Given the description of an element on the screen output the (x, y) to click on. 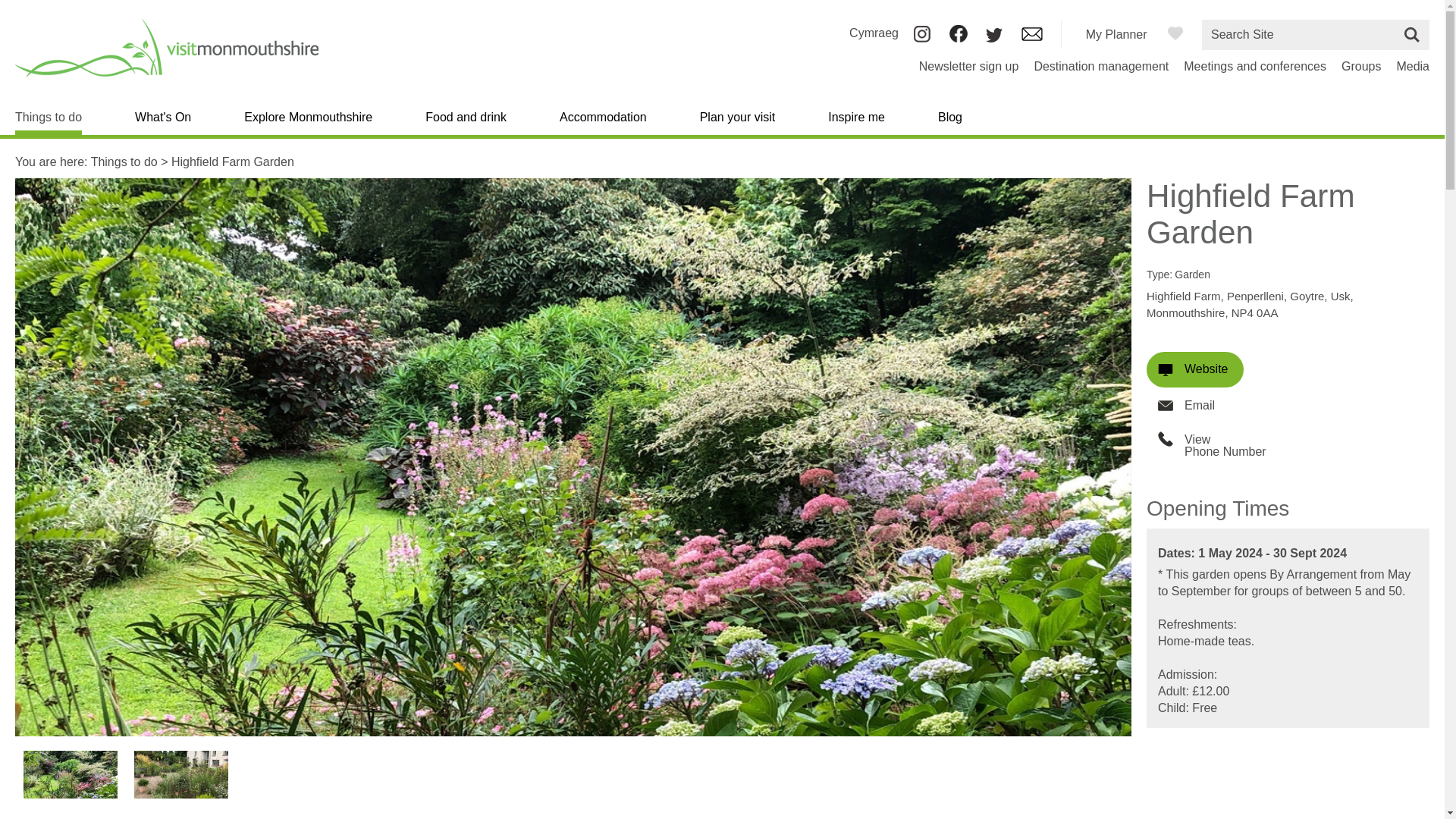
Website Facebook (958, 38)
Meetings and conferences (1254, 65)
Newsletter sign up (968, 65)
Website Instagram (922, 38)
Groups (1360, 65)
Cymraeg (873, 32)
Things to do in Monmouthshire (47, 122)
Media (1412, 65)
Contact Us (1032, 36)
Destination management (1101, 65)
